Given the description of an element on the screen output the (x, y) to click on. 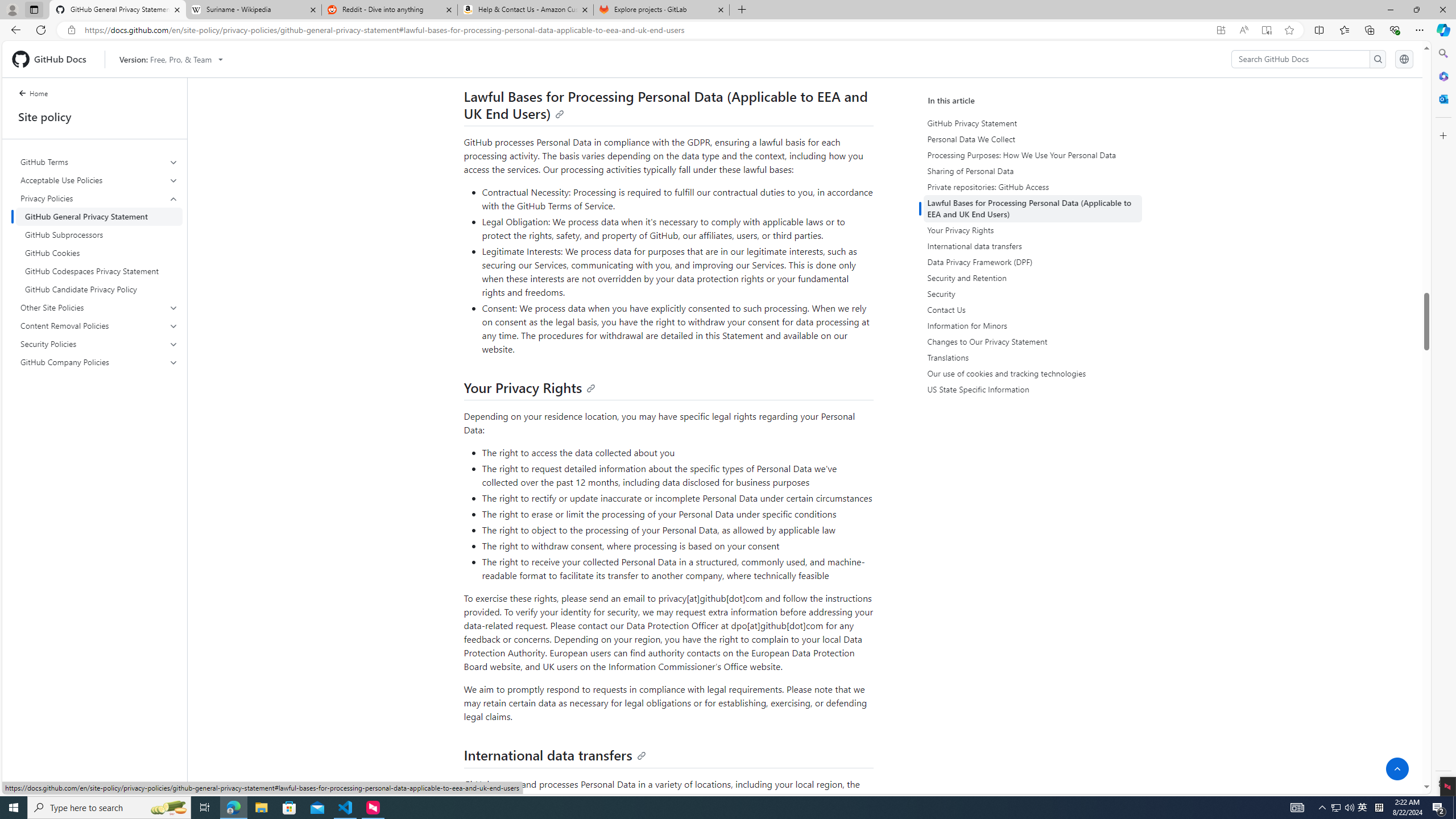
Security Policies (99, 343)
Private repositories: GitHub Access (1034, 186)
GitHub General Privacy Statement - GitHub Docs (117, 9)
Other Site Policies (99, 307)
Suriname - Wikipedia (253, 9)
GitHub Privacy Statement (1034, 123)
Security (1034, 293)
GitHub Terms (99, 162)
GitHub General Privacy Statement (99, 216)
